Given the description of an element on the screen output the (x, y) to click on. 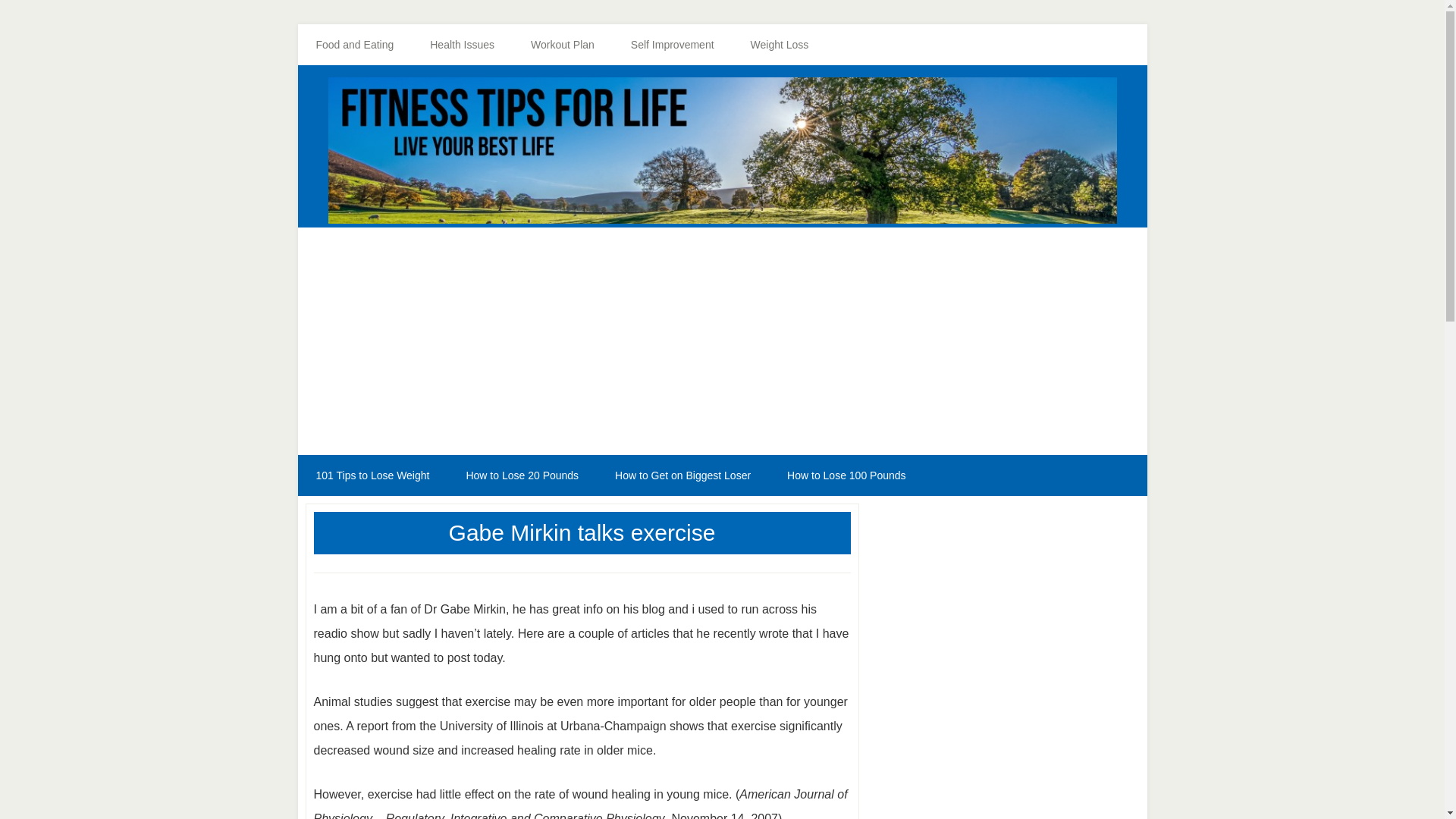
Fitness Tips for Life (721, 149)
Food and Eating (354, 44)
Workout Plan (562, 44)
How to Lose 20 Pounds (521, 475)
Weight Loss (779, 44)
How to Get on Biggest Loser (682, 475)
How to Lose 100 Pounds (845, 475)
101 Tips to Lose Weight (371, 475)
Health Issues (462, 44)
Self Improvement (672, 44)
